Given the description of an element on the screen output the (x, y) to click on. 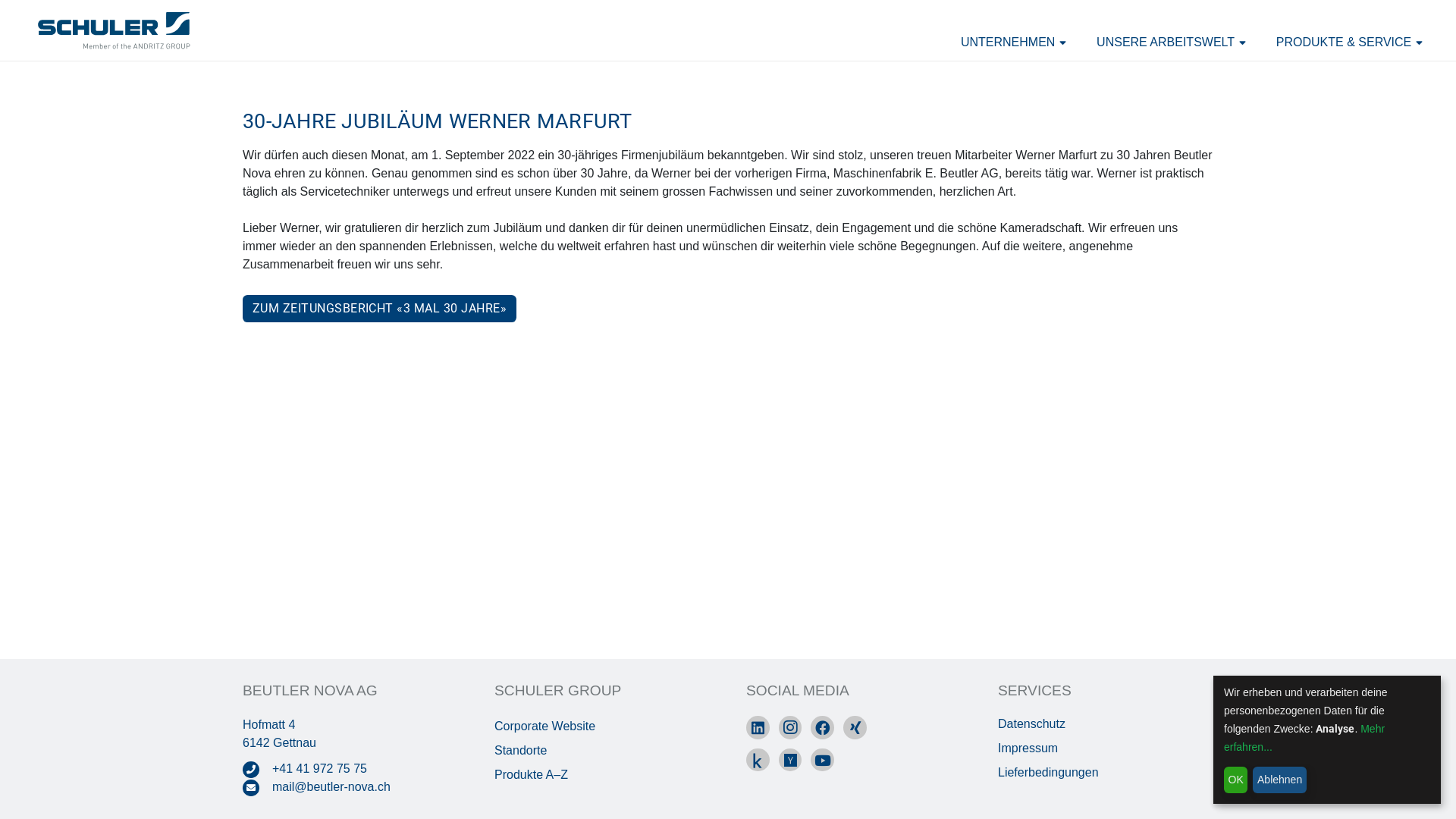
Corporate Website Element type: text (544, 725)
LinkedIn Element type: hover (757, 727)
UNTERNEHMEN Element type: text (1013, 42)
YouTube Element type: hover (822, 759)
OK Element type: text (1235, 779)
kununu Element type: hover (757, 759)
Datenschutz Element type: text (1031, 723)
PRODUKTE & SERVICE Element type: text (1349, 42)
Impressum Element type: text (1027, 747)
Facebook Element type: hover (822, 727)
Lieferbedingungen Element type: text (1047, 771)
Mehr erfahren... Element type: text (1303, 737)
Instagram Element type: hover (790, 727)
Xing Element type: hover (854, 727)
Standorte Element type: text (520, 749)
+41 41 972 75 75 Element type: text (319, 768)
UNSERE ARBEITSWELT Element type: text (1171, 42)
Ablehnen Element type: text (1278, 779)
419727575 Element type: hover (257, 768)
mail@beutler-nova.ch Element type: text (331, 787)
Yousty Element type: hover (790, 759)
